Given the description of an element on the screen output the (x, y) to click on. 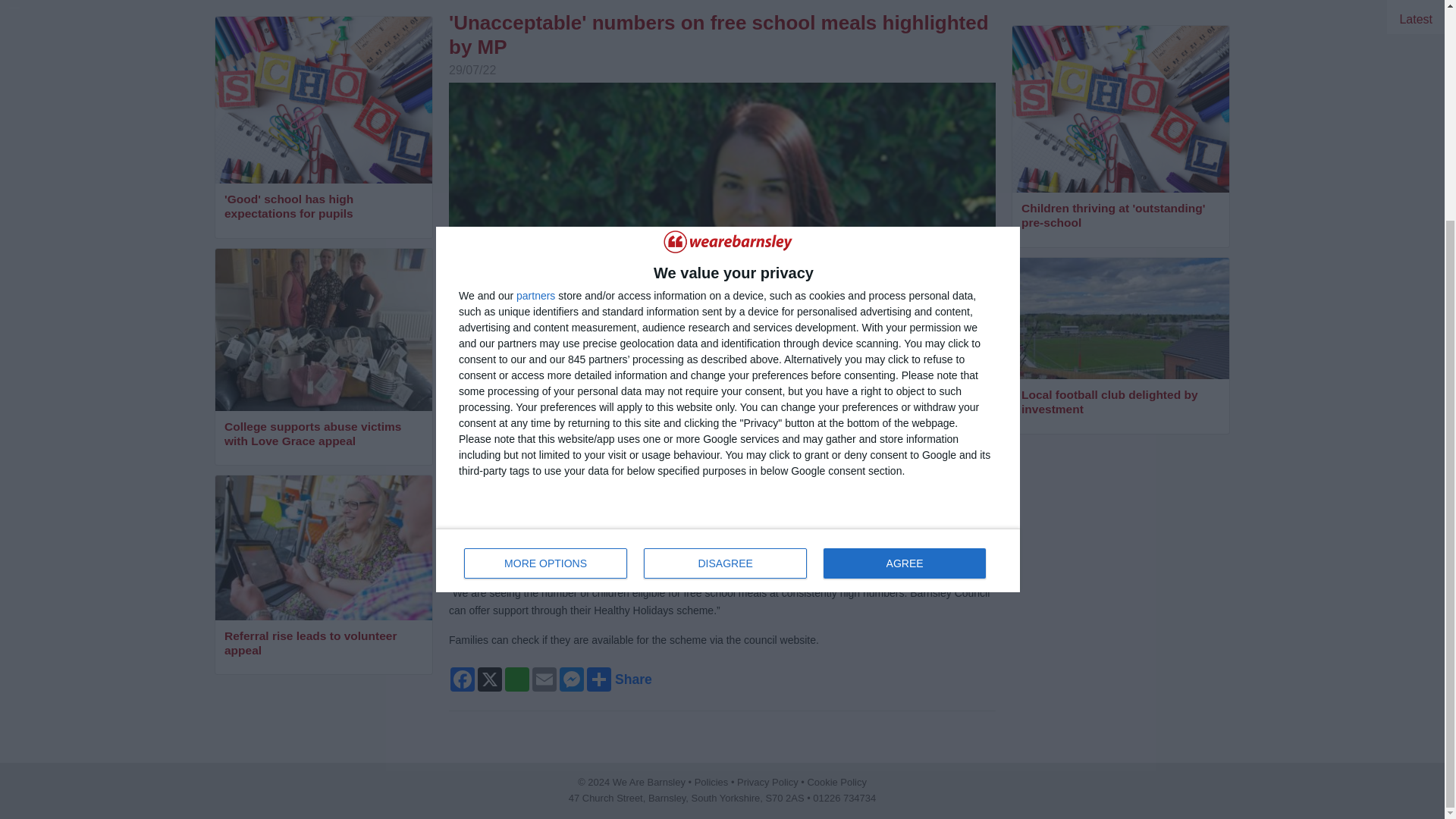
Facebook (462, 679)
'Good' school has high expectations for pupils (323, 207)
MORE OPTIONS (545, 271)
X (489, 679)
WhatsApp (517, 679)
partners (535, 4)
Email (727, 268)
College supports abuse victims with Love Grace appeal (544, 679)
DISAGREE (323, 435)
Referral rise leads to volunteer appeal (724, 271)
AGREE (323, 644)
